Given the description of an element on the screen output the (x, y) to click on. 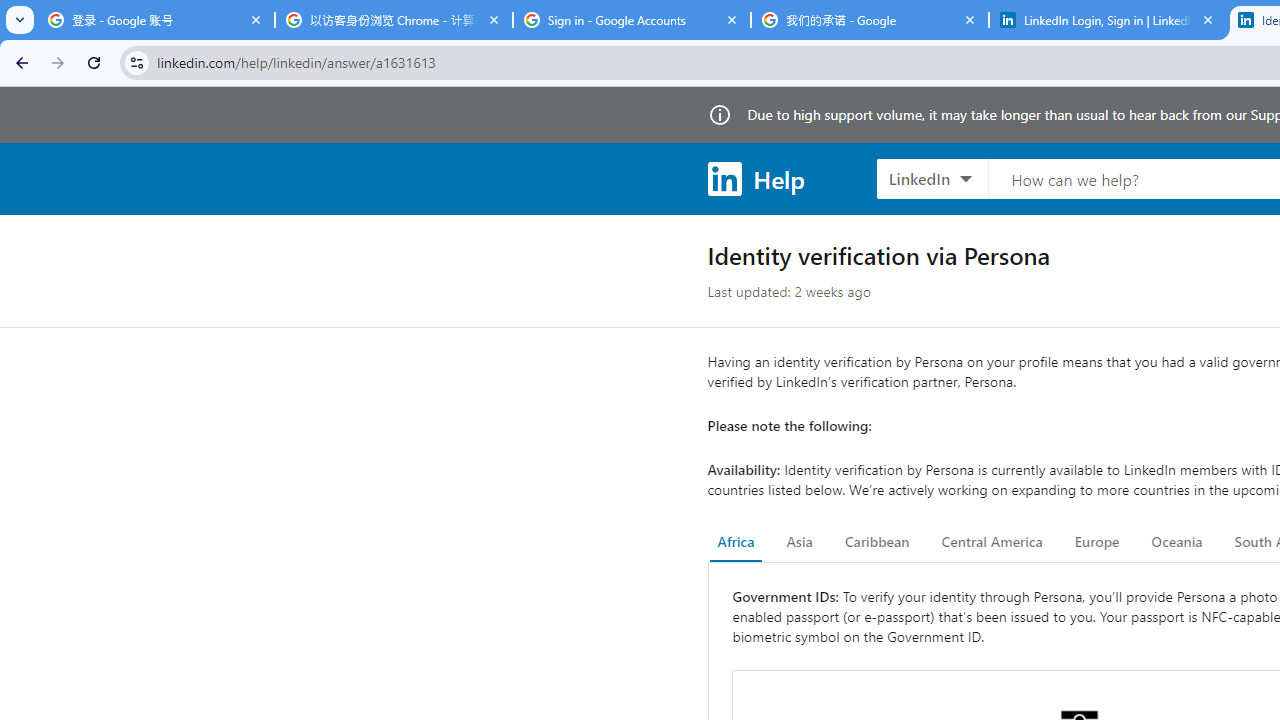
Oceania (1176, 542)
Asia (799, 542)
LinkedIn Login, Sign in | LinkedIn (1108, 20)
